Given the description of an element on the screen output the (x, y) to click on. 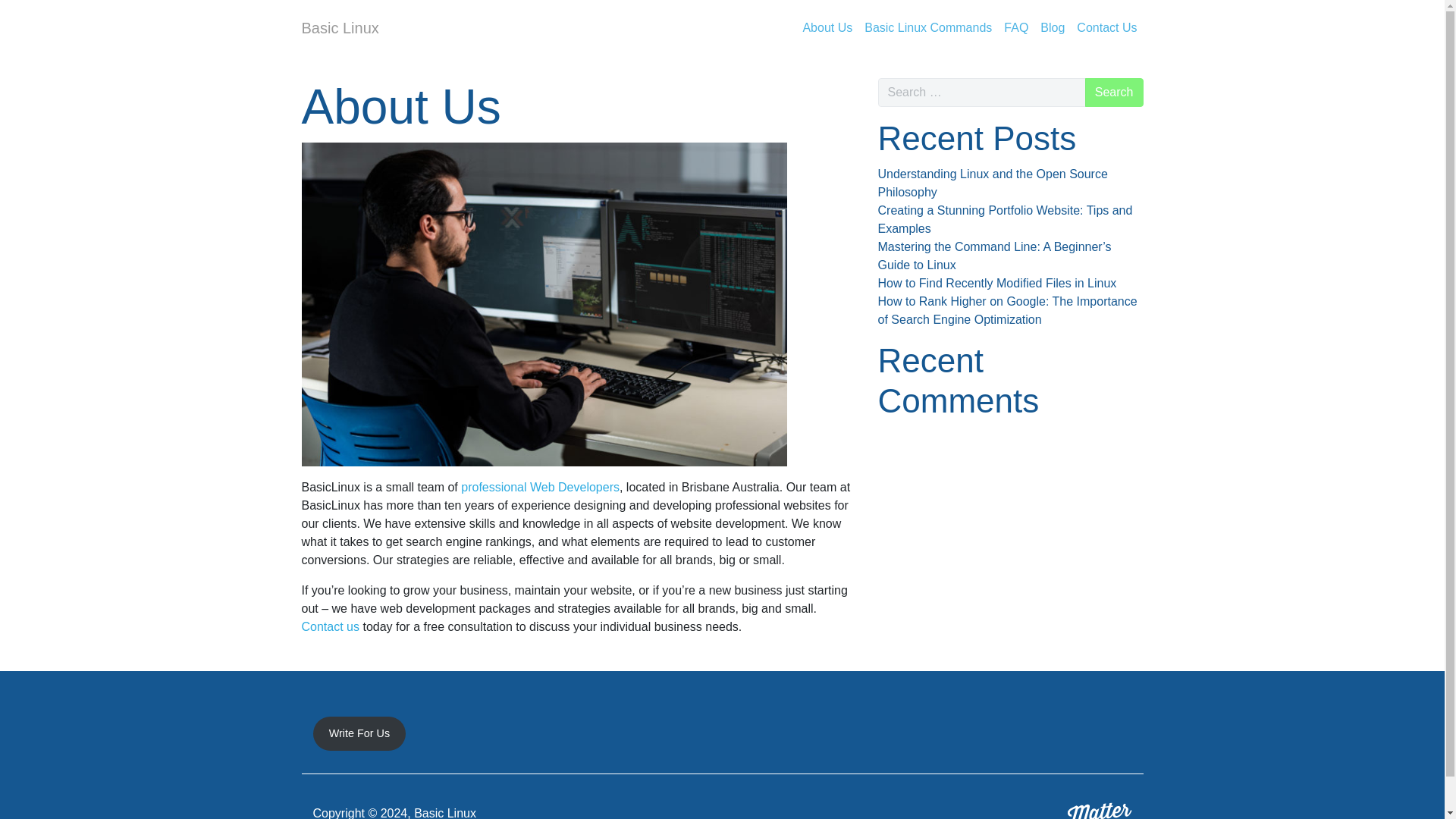
How to Find Recently Modified Files in Linux (996, 282)
Blog (1051, 27)
Write For Us (359, 733)
Search (1113, 92)
Basic Linux Commands (928, 27)
Contact Us (1106, 27)
Search (1113, 92)
About Us (827, 27)
Creating a Stunning Portfolio Website: Tips and Examples (1004, 219)
professional Web Developers (540, 486)
Basic Linux (339, 27)
Matter Solutions (1099, 806)
About Us (827, 27)
Contact us (330, 626)
Basic Linux Commands (928, 27)
